Given the description of an element on the screen output the (x, y) to click on. 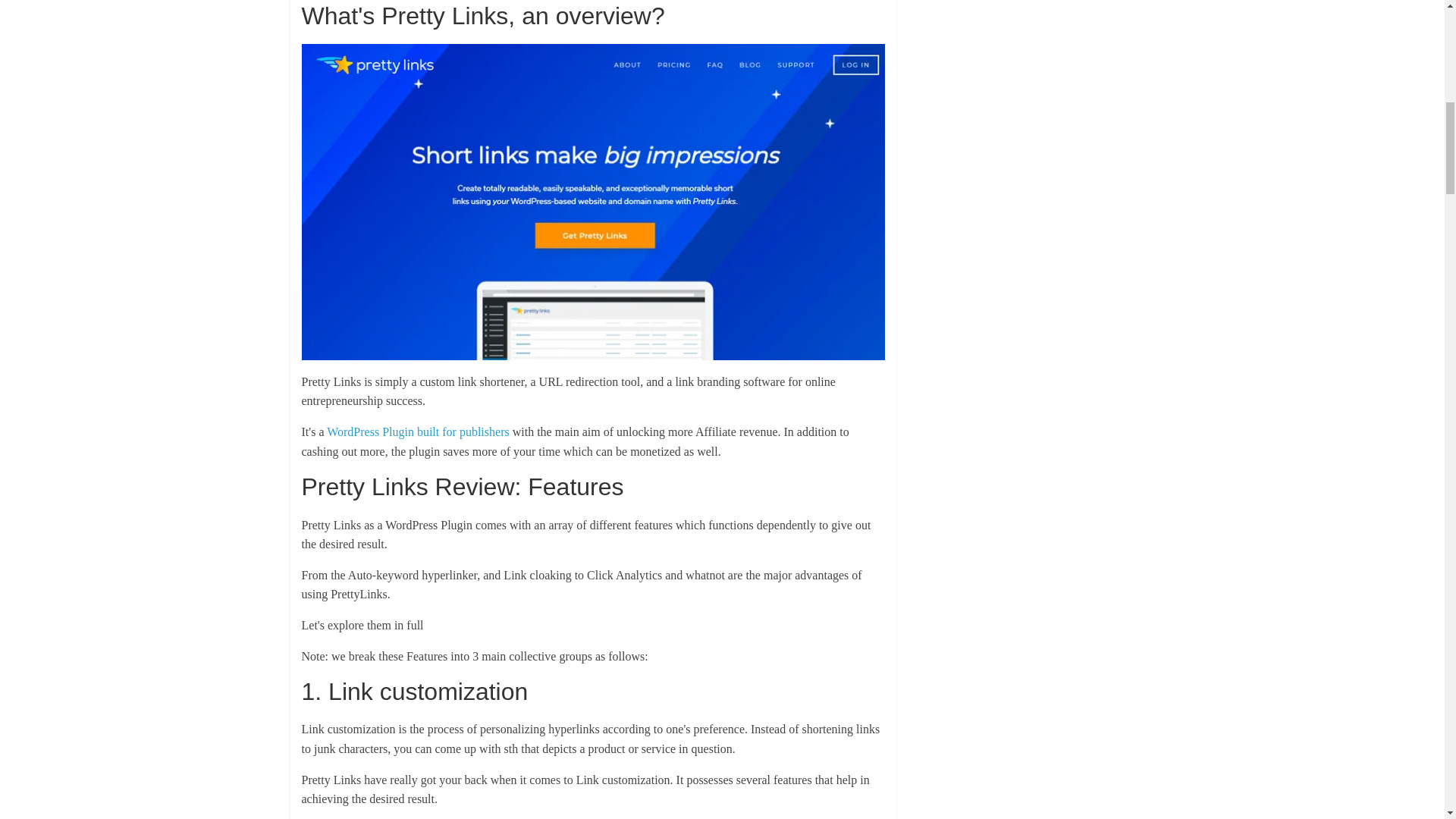
WordPress Plugin built for publishers (417, 431)
